Given the description of an element on the screen output the (x, y) to click on. 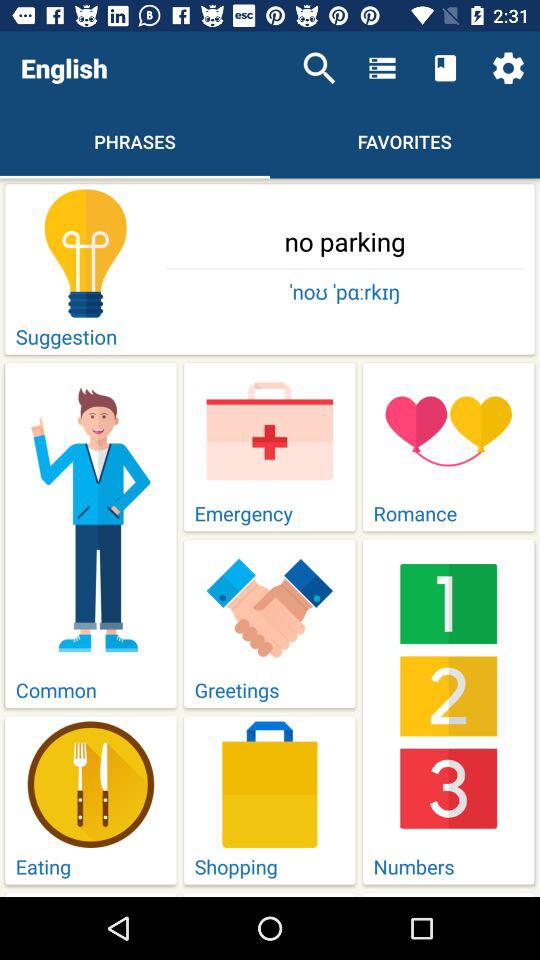
press icon above favorites (381, 67)
